Given the description of an element on the screen output the (x, y) to click on. 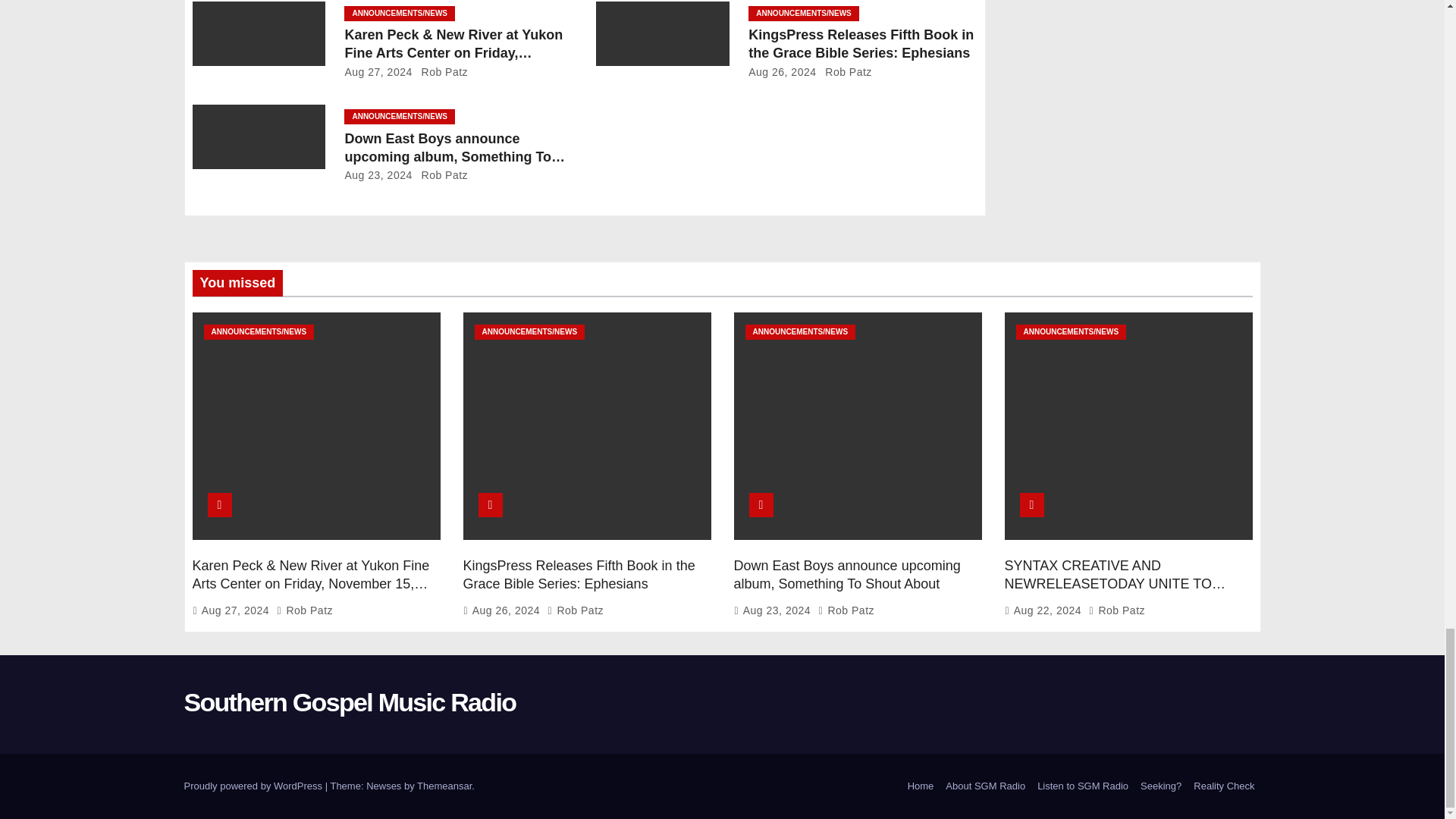
Home (920, 786)
